Given the description of an element on the screen output the (x, y) to click on. 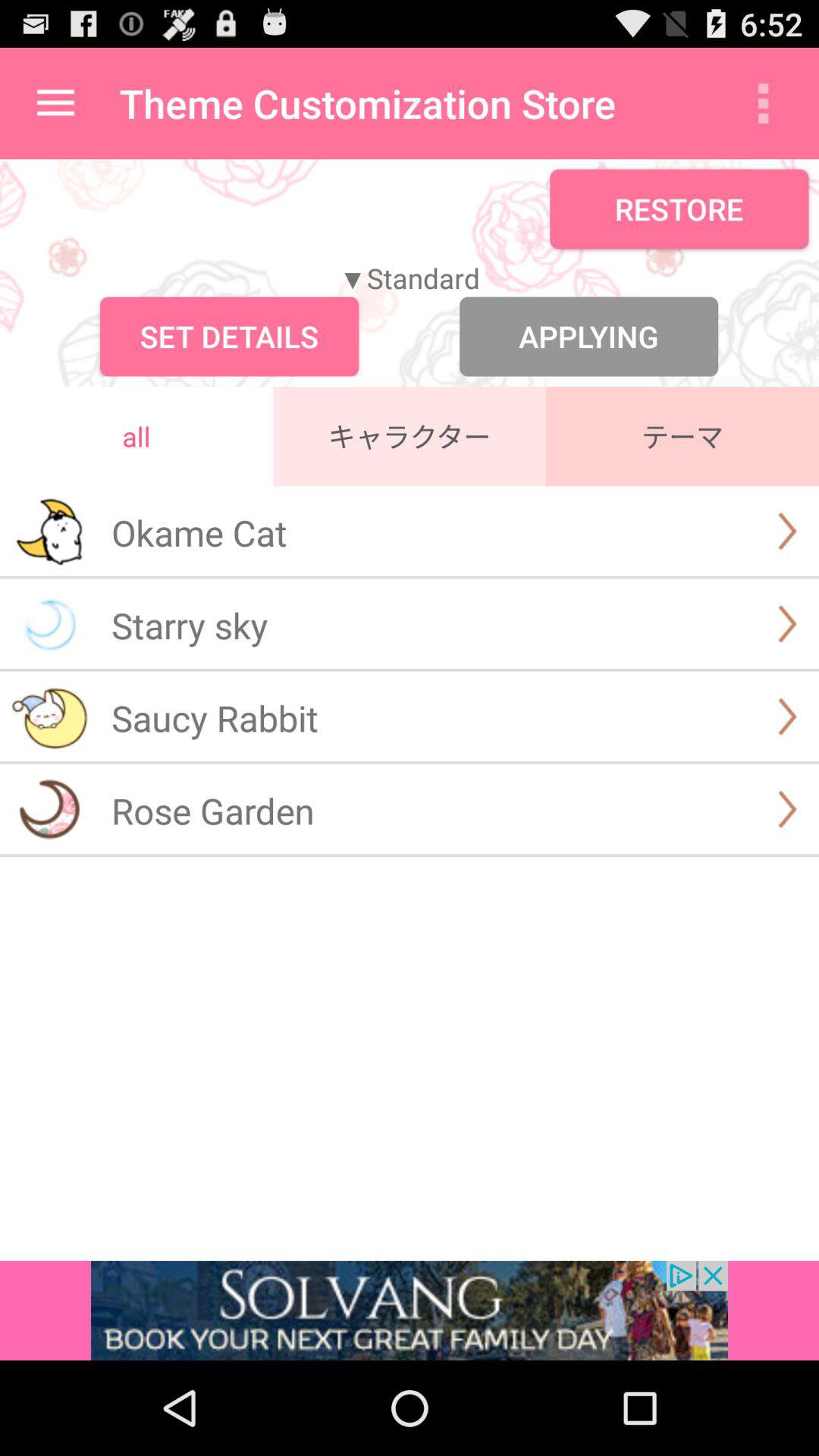
advertisement image (409, 1310)
